Given the description of an element on the screen output the (x, y) to click on. 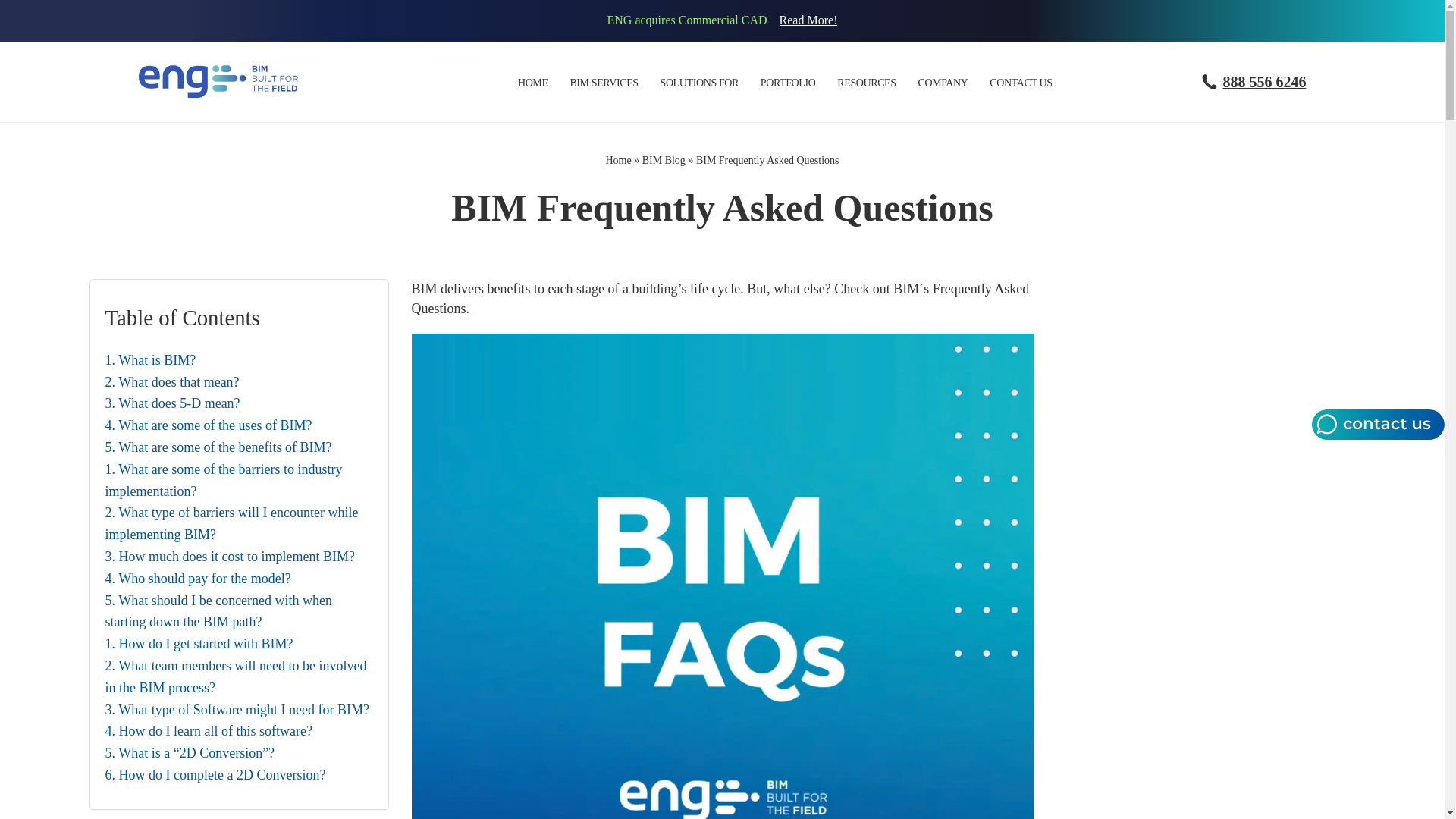
1. What are some of the barriers to industry implementation? (238, 480)
5. What are some of the benefits of BIM? (217, 447)
6. How do I complete a 2D Conversion? (214, 775)
3. What does 5-D mean? (172, 403)
3. How much does it cost to implement BIM? (228, 557)
1. What is BIM? (149, 360)
4. What are some of the uses of BIM? (207, 425)
1. How do I get started with BIM? (198, 644)
2. What does that mean? (171, 382)
Read More! (808, 20)
4. Who should pay for the model? (196, 578)
4. How do I learn all of this software? (207, 731)
3. What type of Software might I need for BIM? (236, 710)
SOLUTIONS FOR (698, 83)
